Given the description of an element on the screen output the (x, y) to click on. 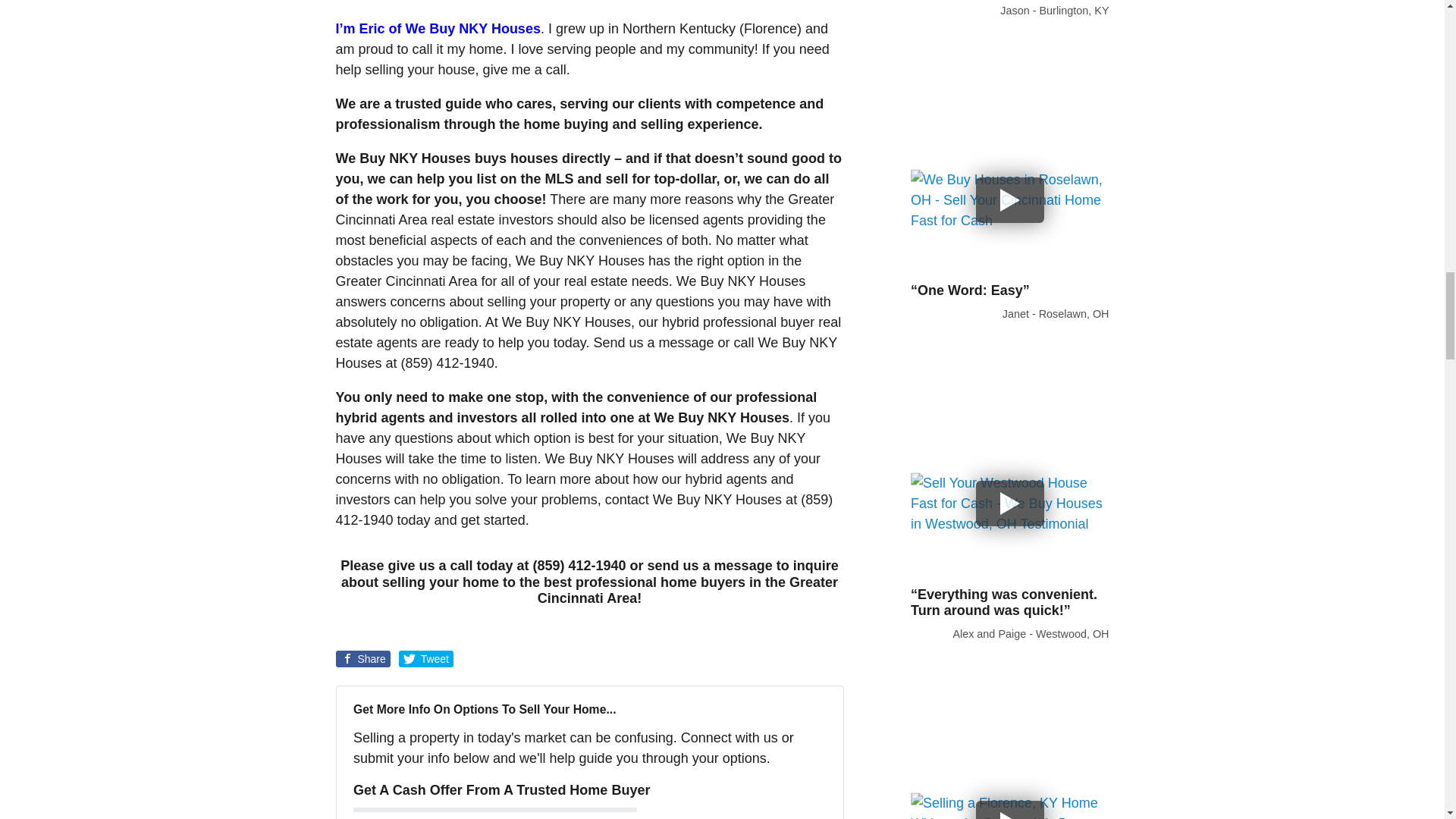
Share (362, 658)
Share on Twitter (425, 658)
Tweet (425, 658)
Share on Facebook (362, 658)
